Given the description of an element on the screen output the (x, y) to click on. 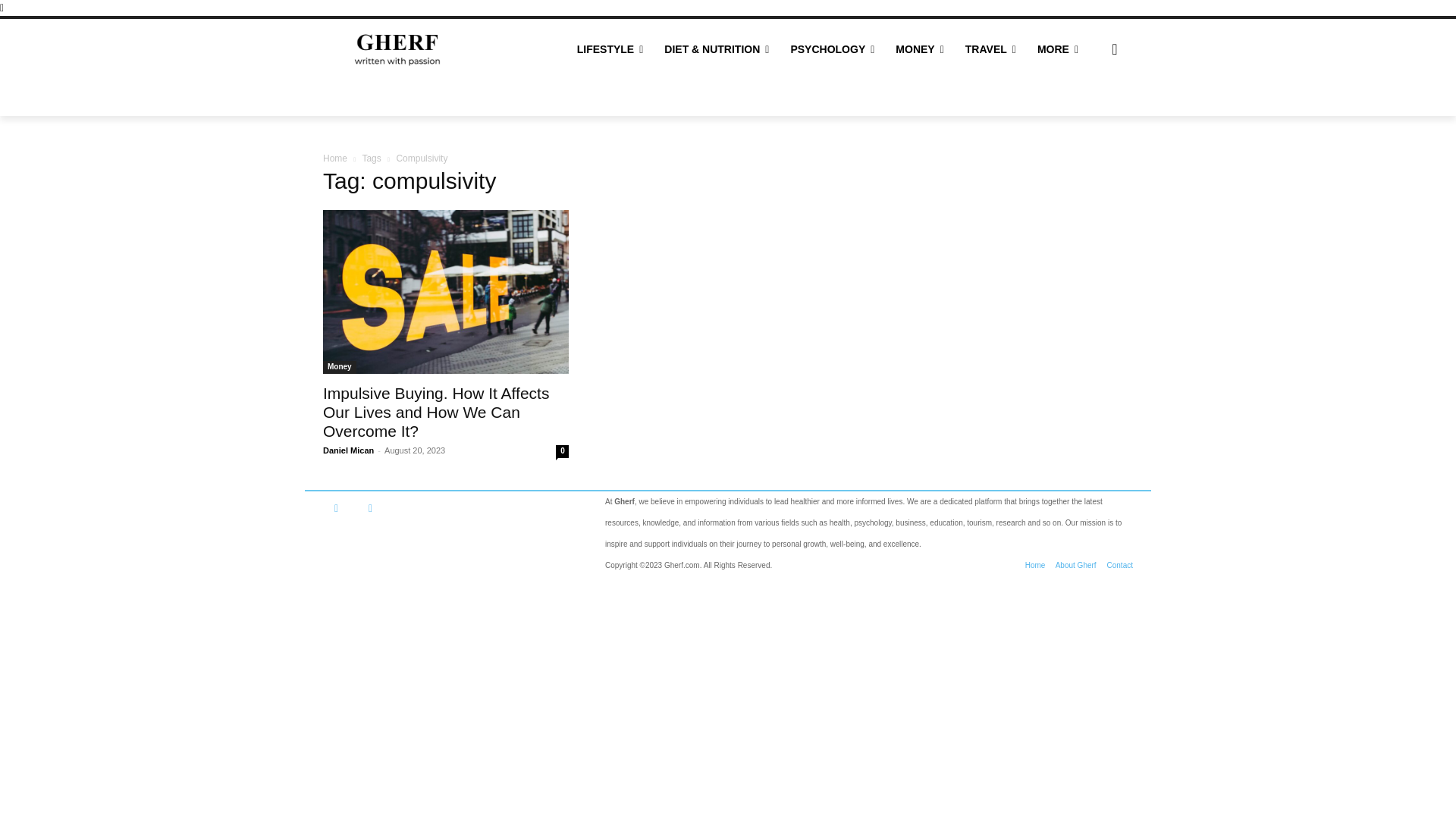
LIFESTYLE (609, 48)
